Given the description of an element on the screen output the (x, y) to click on. 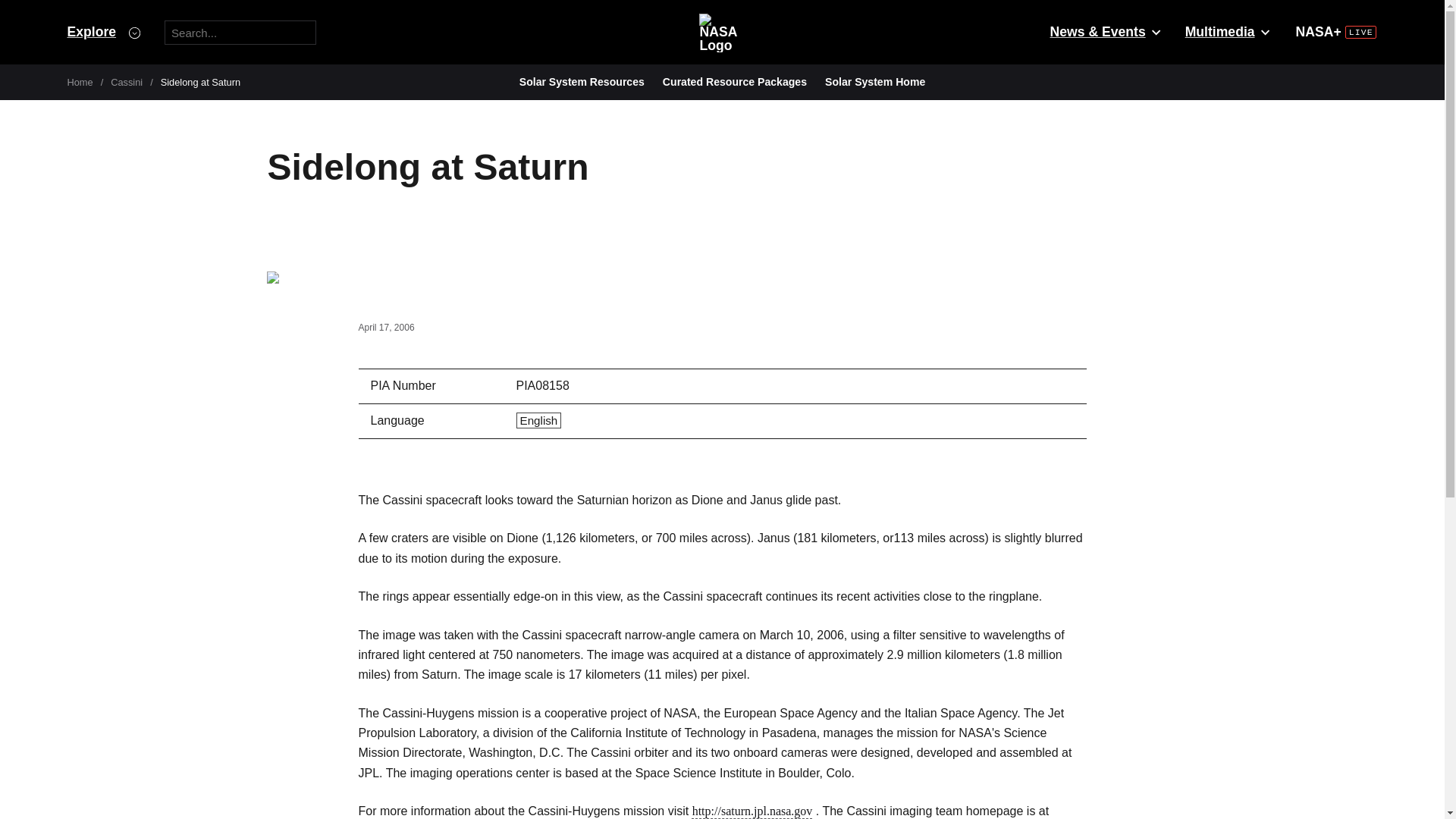
Home (79, 81)
Cassini (126, 81)
